Given the description of an element on the screen output the (x, y) to click on. 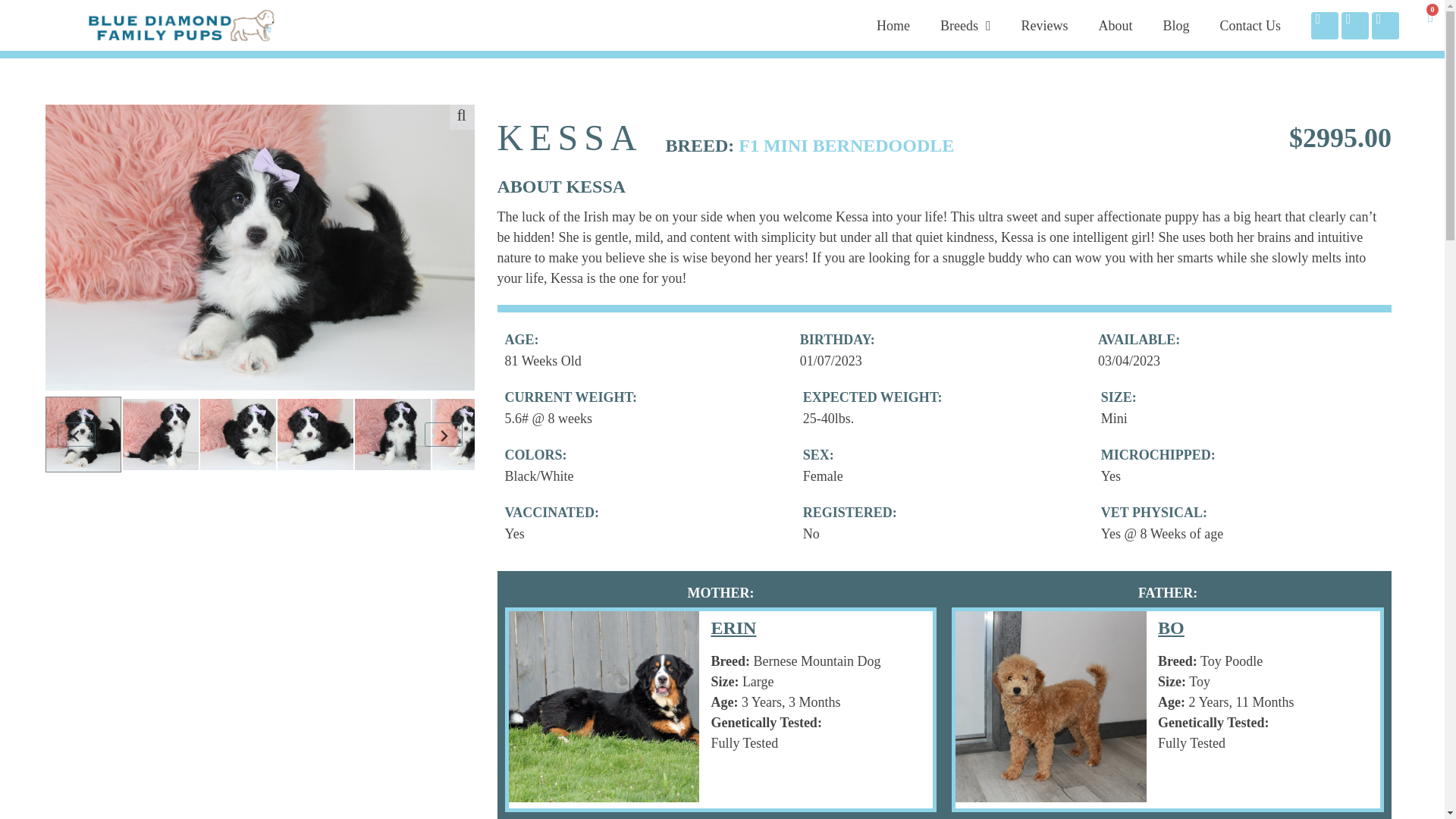
Reviews (1044, 25)
About (1115, 25)
FATHER: (1167, 592)
COLORS: (536, 454)
Contact Us (1249, 25)
0 (1429, 17)
ERIN (799, 628)
Breeds (965, 25)
Bo-Toy-Poodle-Dog - Blue Diamond Family Pups (1051, 706)
Erin-Bernese-Mountain-Dog - Blue Diamond Family Pups (604, 706)
Blue-Diamond-Family-Pups-Logo - Blue Diamond Family Pups (181, 25)
Blog (1175, 25)
Home (892, 25)
